Given the description of an element on the screen output the (x, y) to click on. 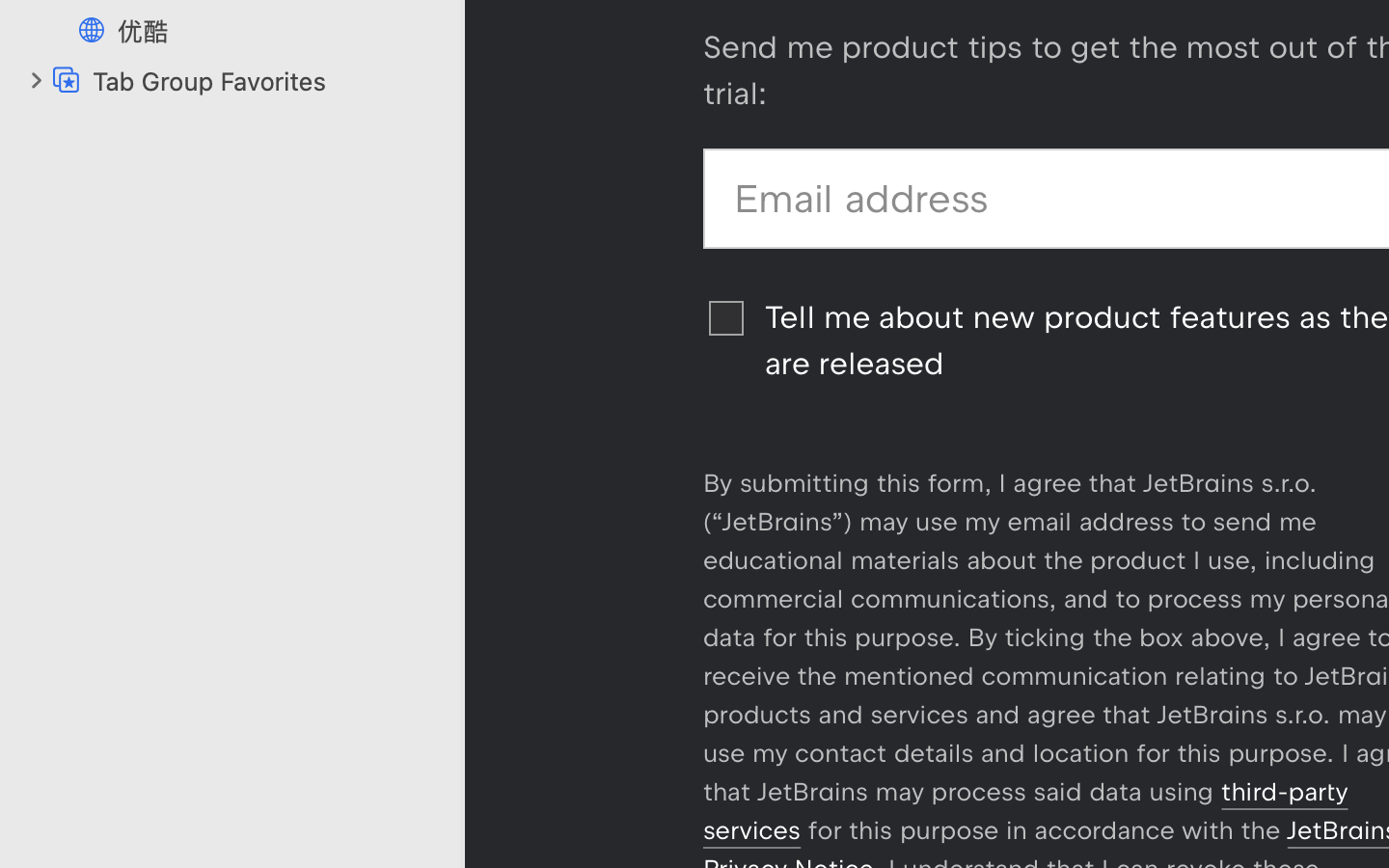
third-party services Element type: AXStaticText (1025, 810)
Tab Group Favorites Element type: AXTextField (267, 80)
优酷 Element type: AXTextField (280, 30)
for this purpose in accordance with the Element type: AXStaticText (1044, 829)
